Given the description of an element on the screen output the (x, y) to click on. 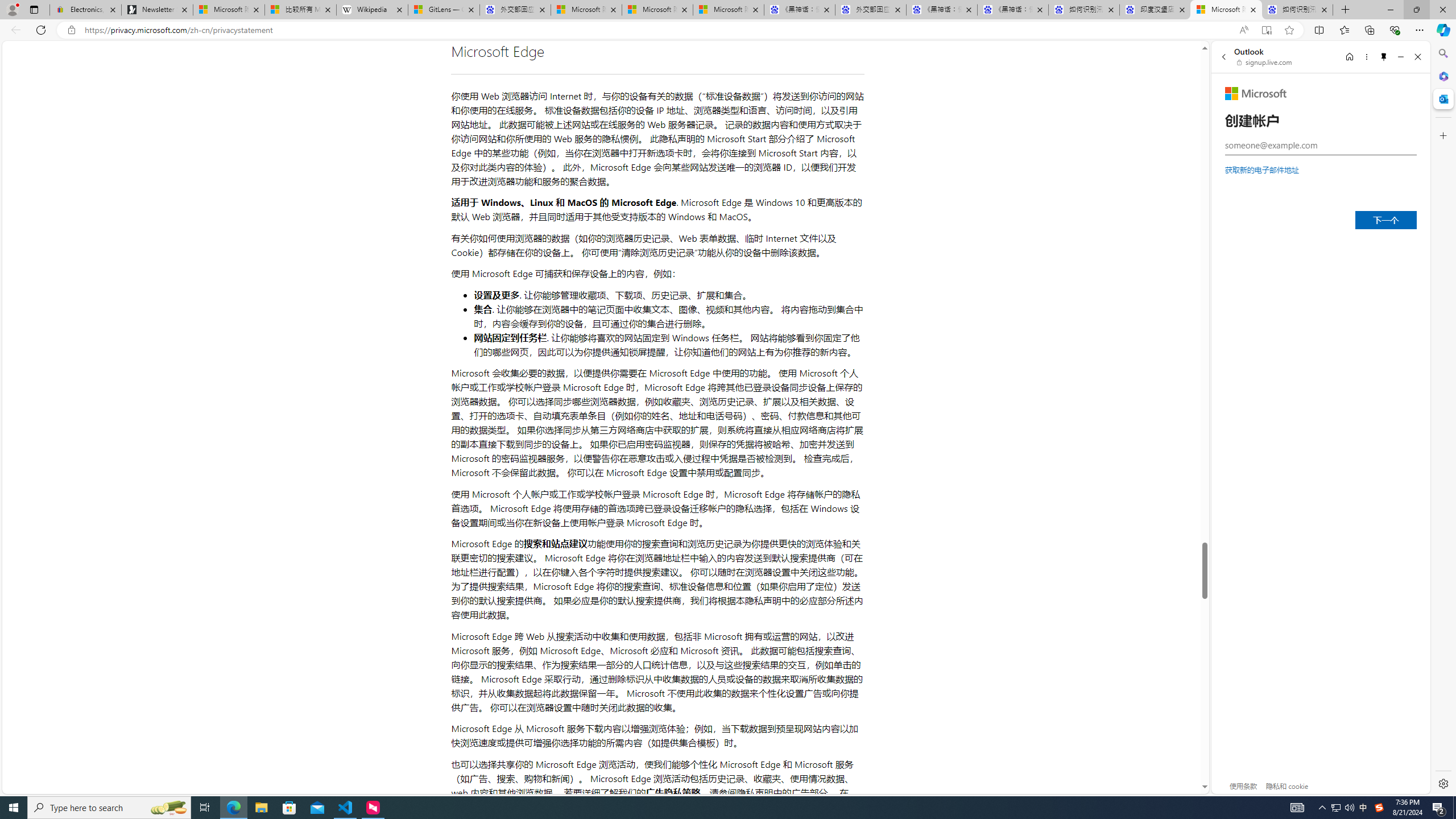
Unpin side pane (1383, 56)
Address and search bar (658, 29)
Browser essentials (1394, 29)
Search (1442, 53)
signup.live.com (1264, 61)
Home (1348, 56)
